Given the description of an element on the screen output the (x, y) to click on. 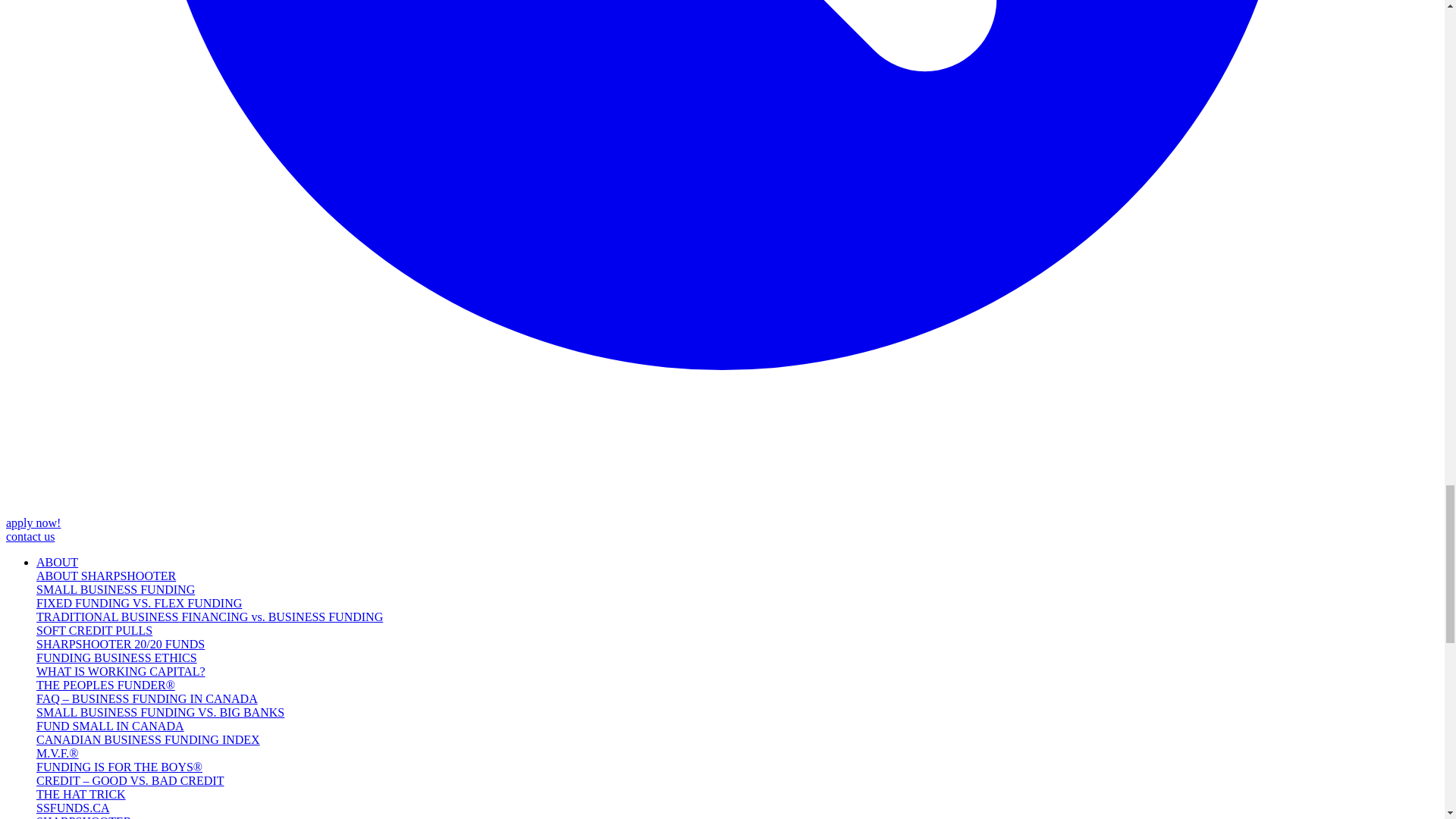
SOFT CREDIT PULLS (94, 630)
WHAT IS WORKING CAPITAL? (120, 671)
SMALL BUSINESS FUNDING VS. BIG BANKS (159, 712)
SHARPSHOOTER (83, 816)
SMALL BUSINESS FUNDING (115, 589)
TRADITIONAL BUSINESS FINANCING vs. BUSINESS FUNDING (209, 616)
FIXED FUNDING VS. FLEX FUNDING (138, 603)
contact us (30, 535)
CANADIAN BUSINESS FUNDING INDEX (148, 739)
FUND SMALL IN CANADA (110, 725)
